Given the description of an element on the screen output the (x, y) to click on. 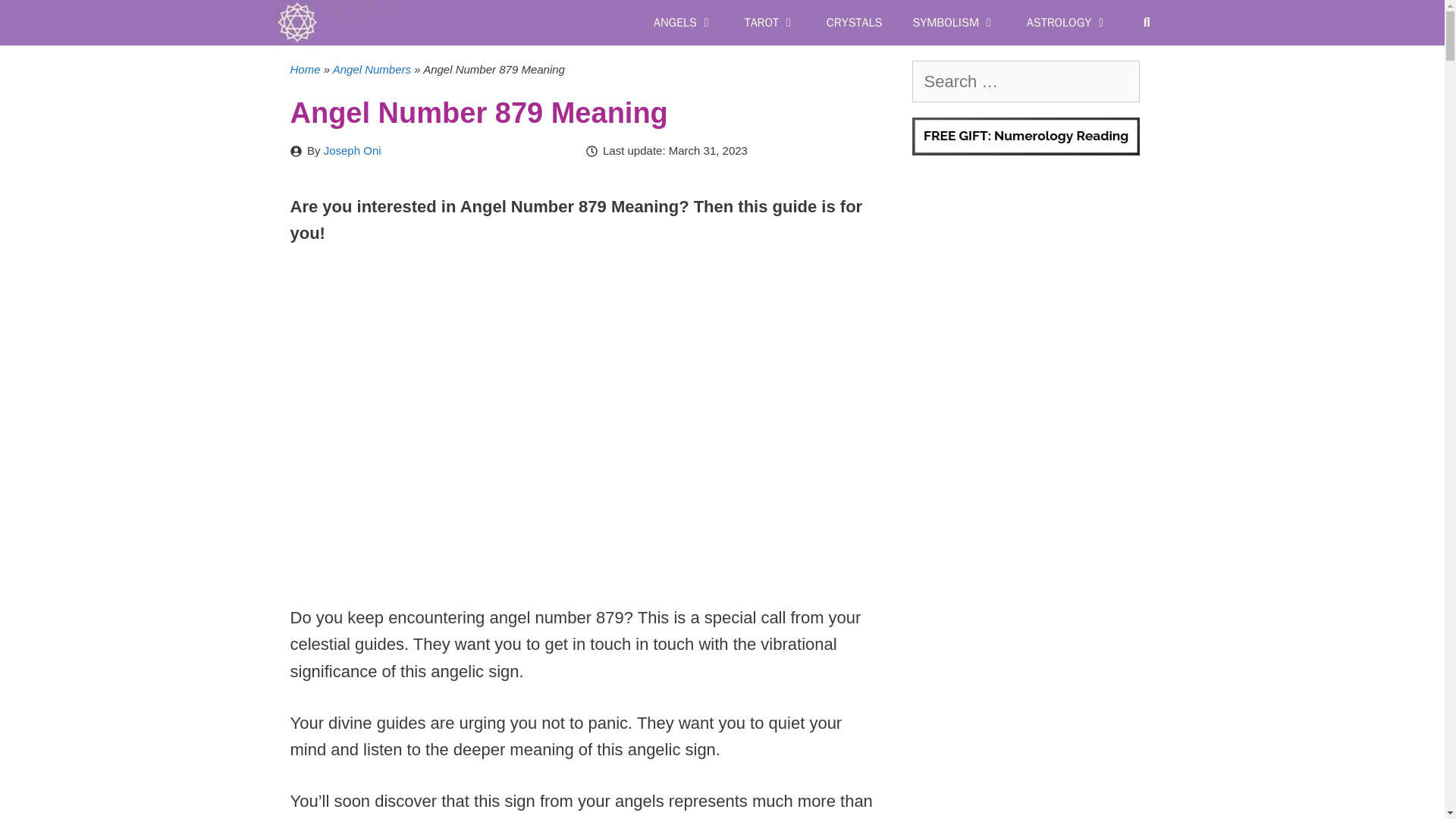
ANGELS (684, 22)
CRYSTALS (854, 22)
TAROT (769, 22)
Search for: (1024, 81)
ASTROLOGY (1067, 22)
SYMBOLISM (953, 22)
